Given the description of an element on the screen output the (x, y) to click on. 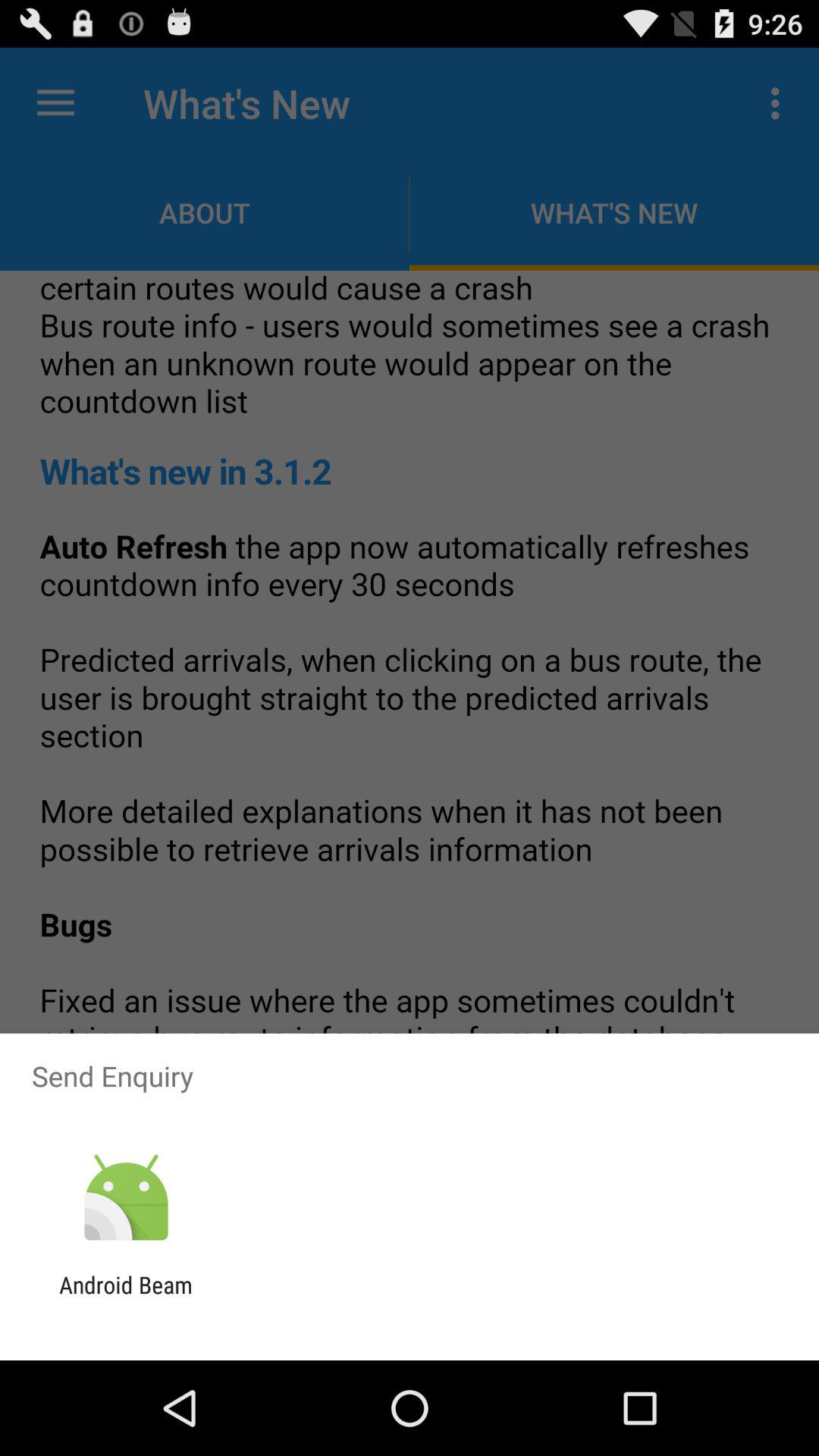
swipe to android beam app (125, 1298)
